Given the description of an element on the screen output the (x, y) to click on. 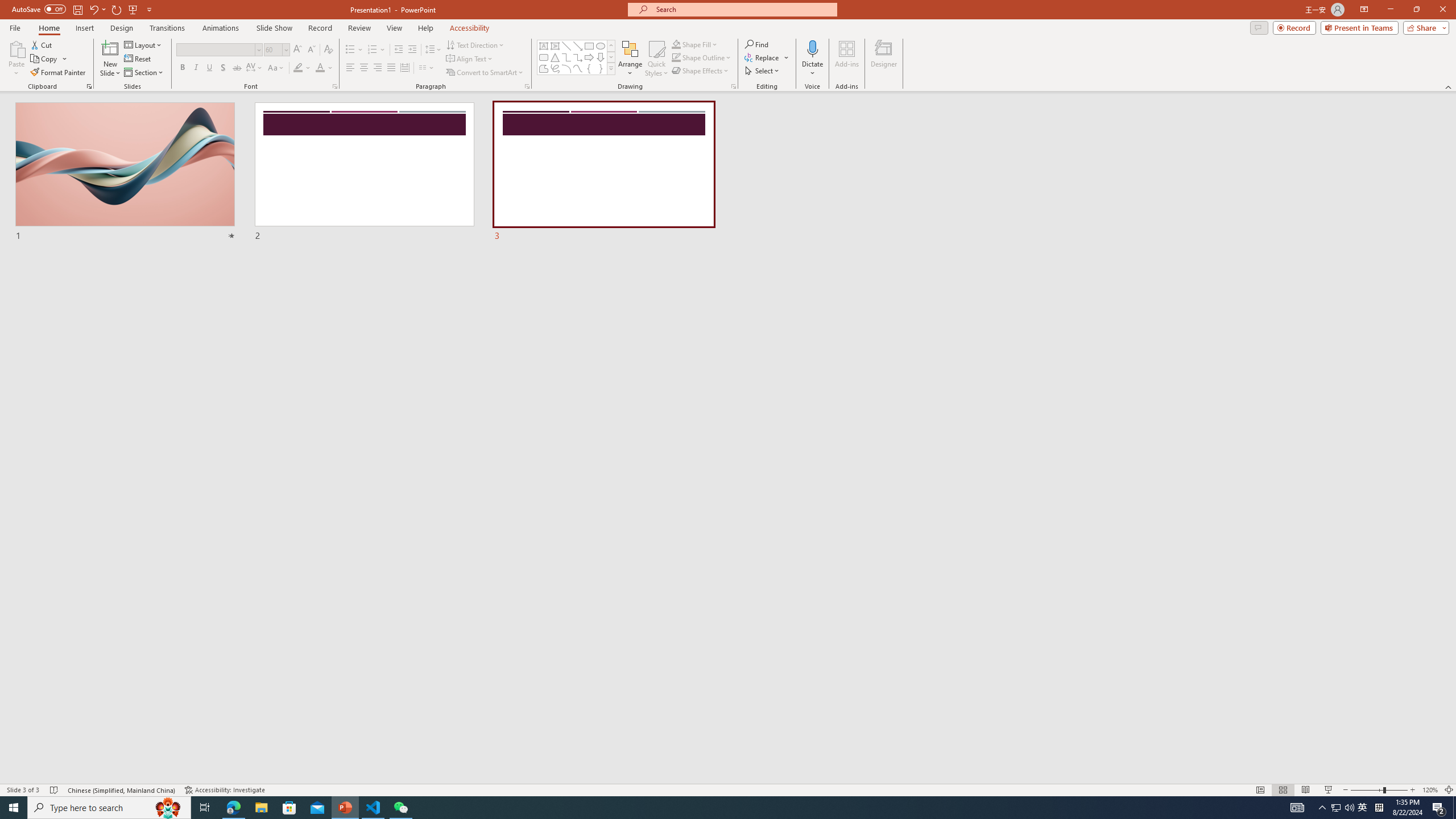
Right Brace (600, 68)
Decrease Indent (398, 49)
Arrange (630, 58)
Text Direction (476, 44)
Align Left (349, 67)
Select (762, 69)
